Given the description of an element on the screen output the (x, y) to click on. 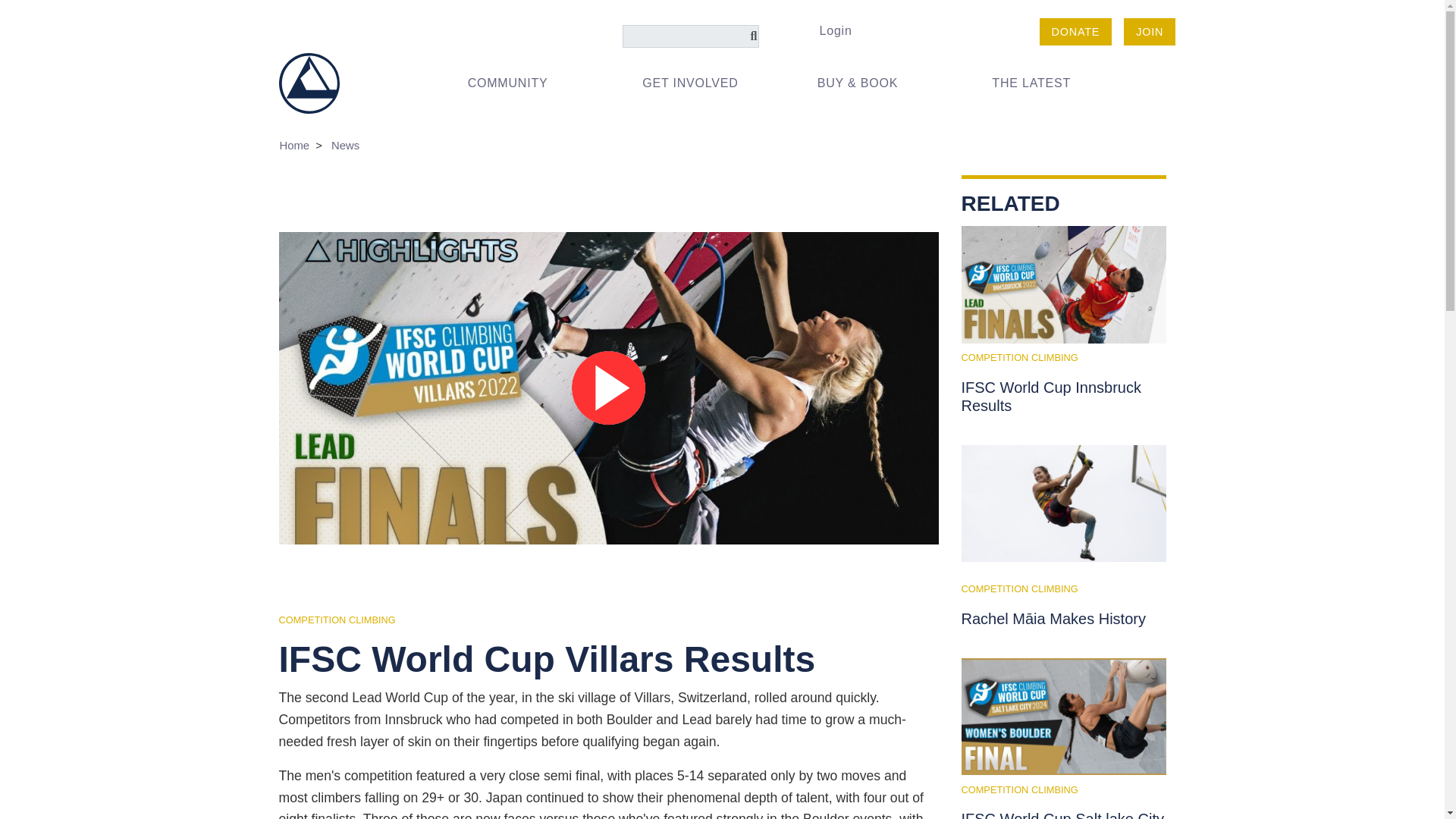
Find information about courses, trips and events run by NZAC (696, 82)
nzac-logo-header (309, 83)
nzac-logo-header (309, 82)
Rachel competing in speed climbing. Photo: Brydie Thompson (1063, 503)
COMMUNITY (522, 82)
Buy our guidebooks and make hut bookings (871, 82)
Login (834, 30)
THE LATEST (1045, 82)
Everything you need to know about NZAC and its activities (522, 82)
Skip to main content (721, 16)
GET INVOLVED (696, 82)
